Given the description of an element on the screen output the (x, y) to click on. 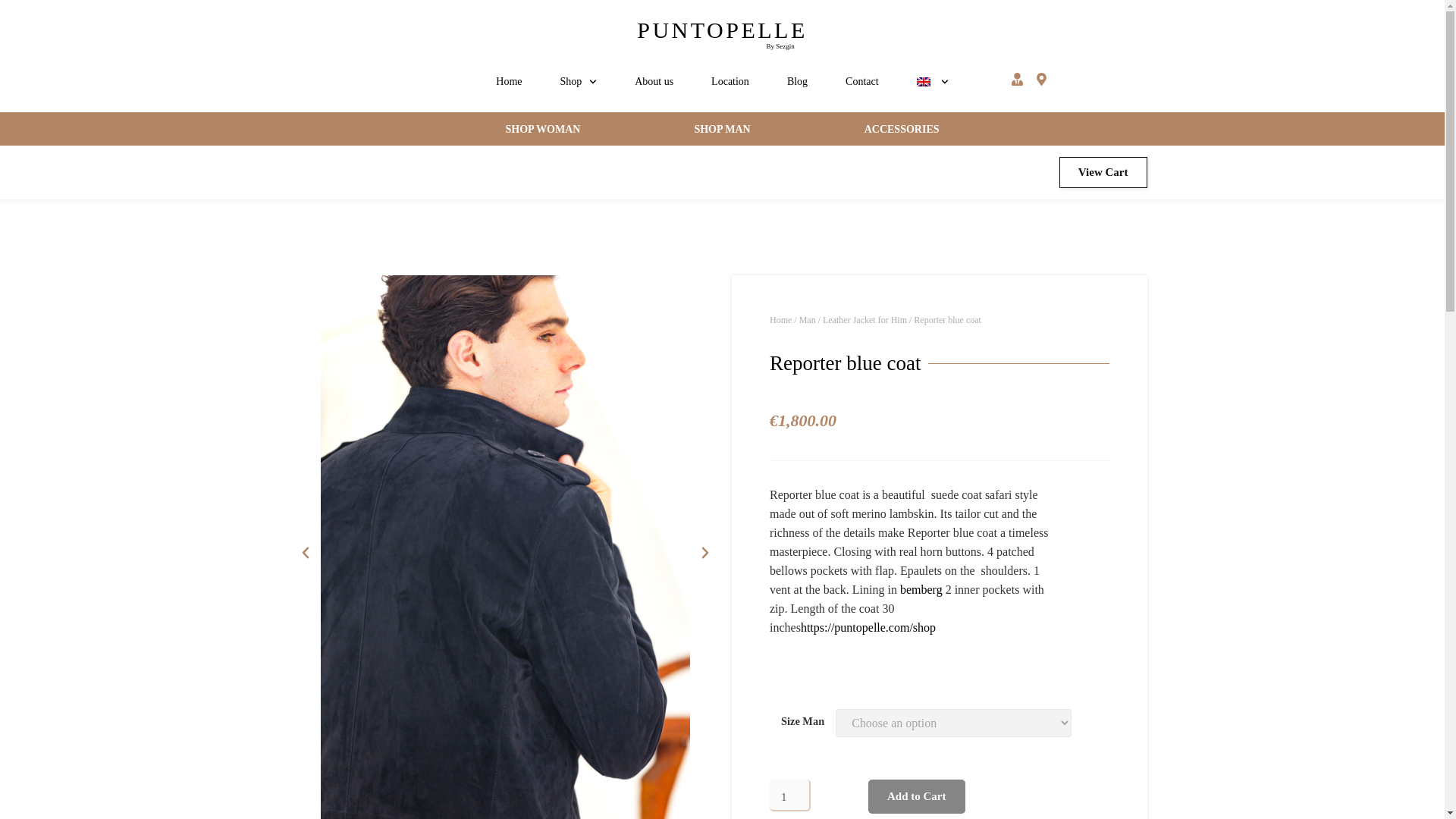
About us (653, 81)
Location (730, 81)
1 (790, 795)
Home (508, 81)
PUNTOPELLE (721, 29)
Shop (578, 81)
Blog (797, 81)
Contact (862, 81)
Punto Pelle Leather Shop (508, 81)
